Given the description of an element on the screen output the (x, y) to click on. 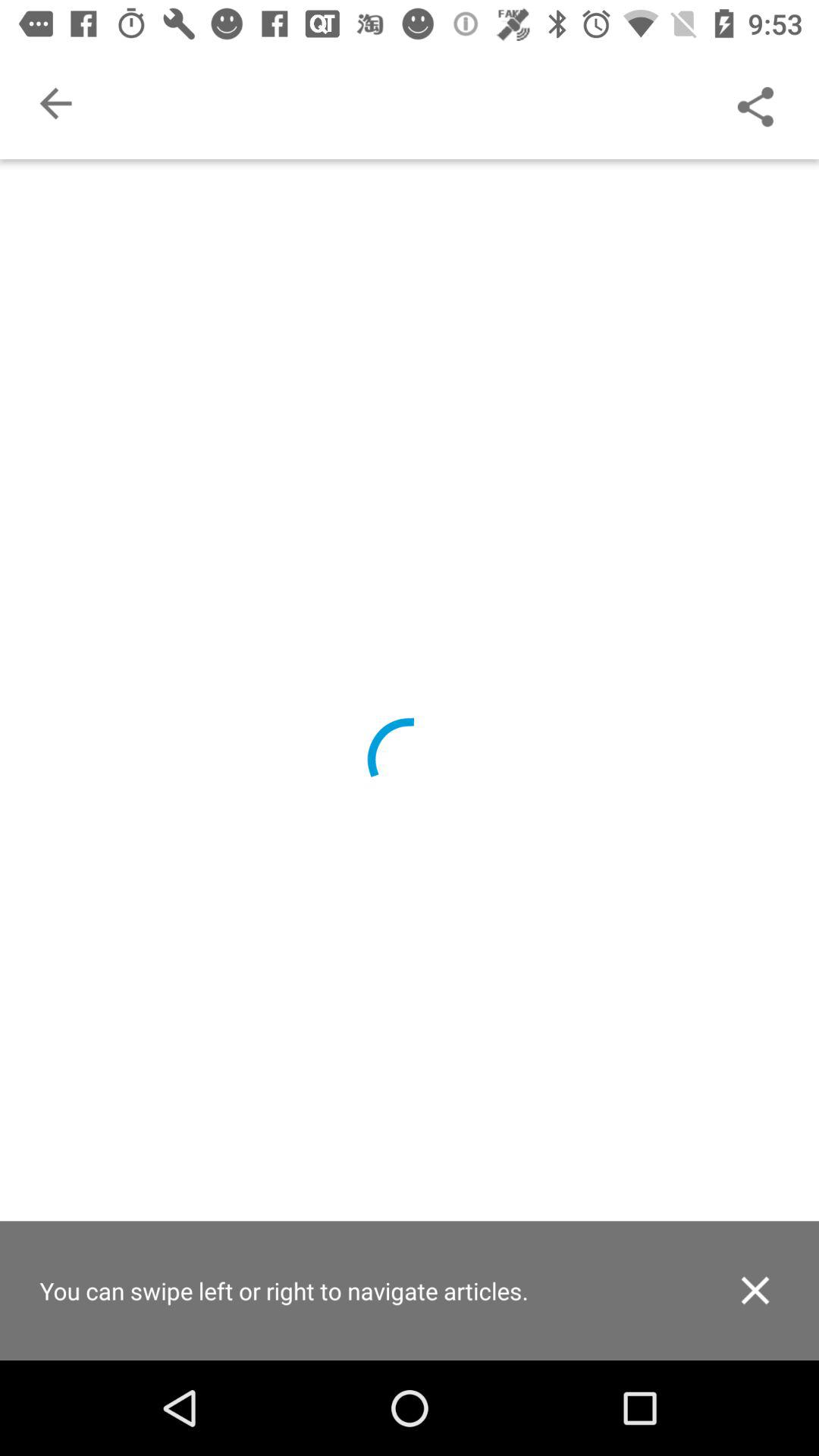
share on social media (755, 103)
